Given the description of an element on the screen output the (x, y) to click on. 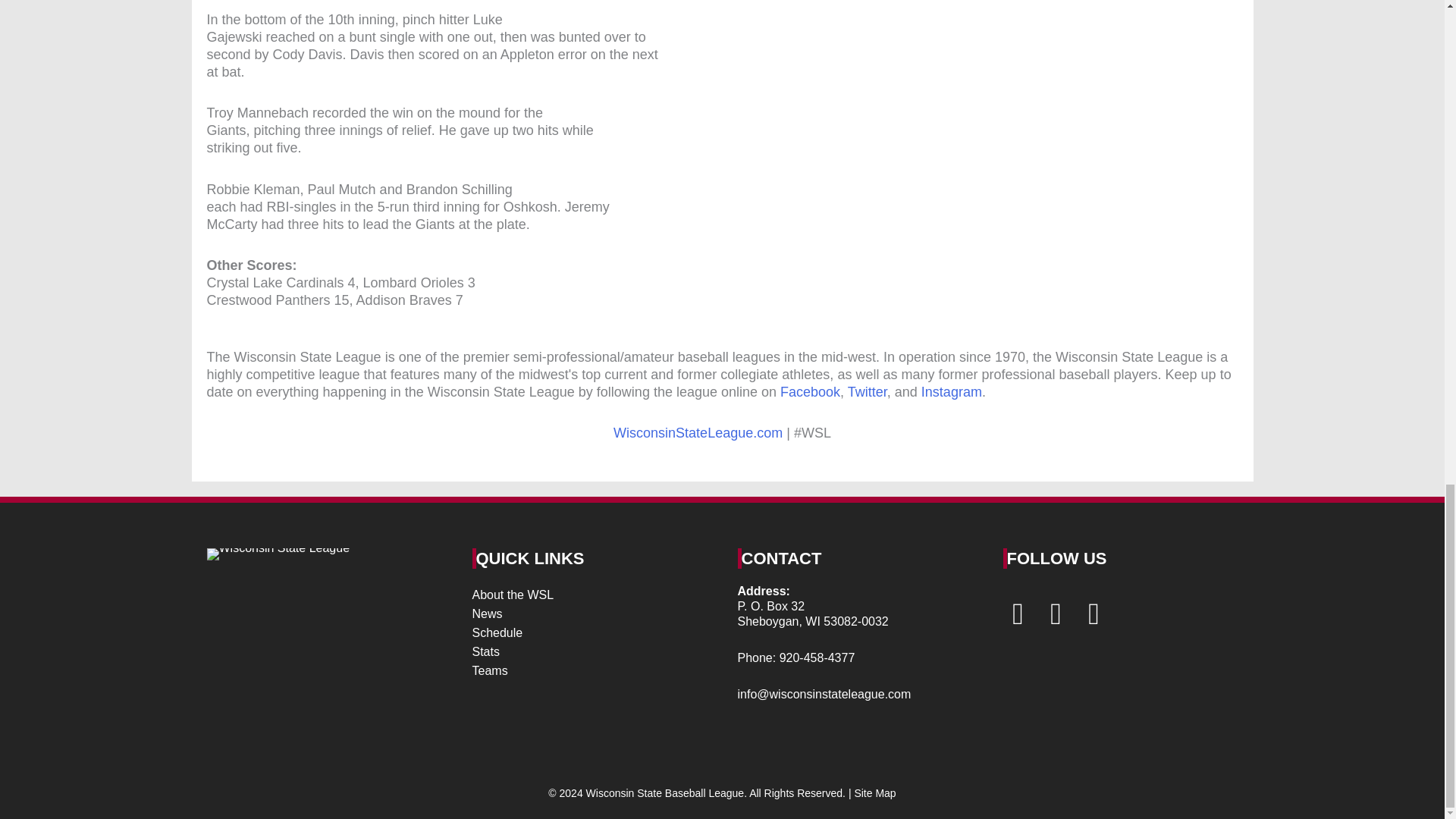
Schedule (587, 632)
News (587, 613)
Facebook (810, 391)
About the WSL (587, 595)
WisconsinStateLeague.com (697, 432)
Wisconsin State League (277, 553)
Stats (587, 652)
Twitter (866, 391)
Instagram (951, 391)
